Given the description of an element on the screen output the (x, y) to click on. 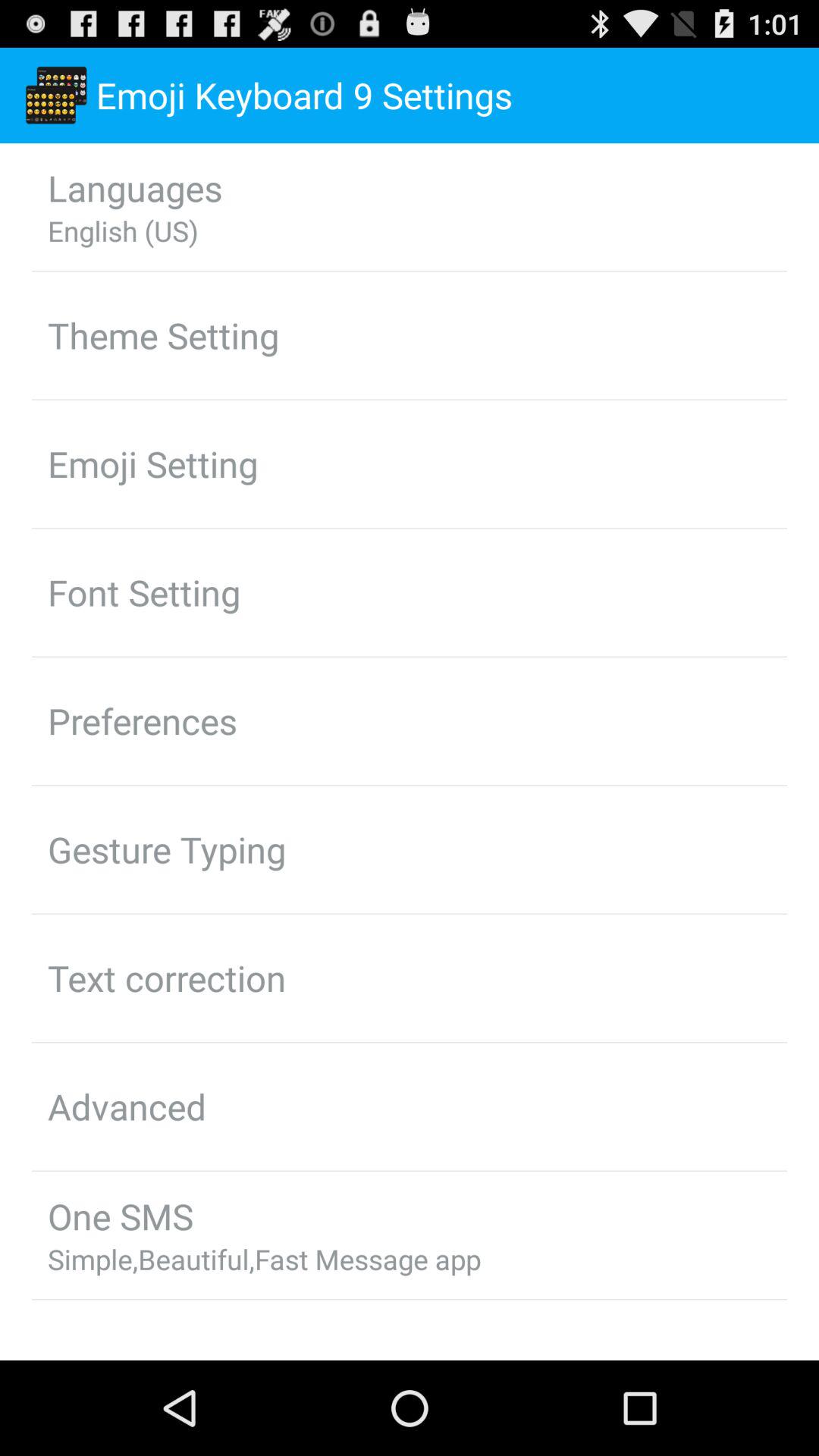
turn off icon above preferences item (143, 592)
